Given the description of an element on the screen output the (x, y) to click on. 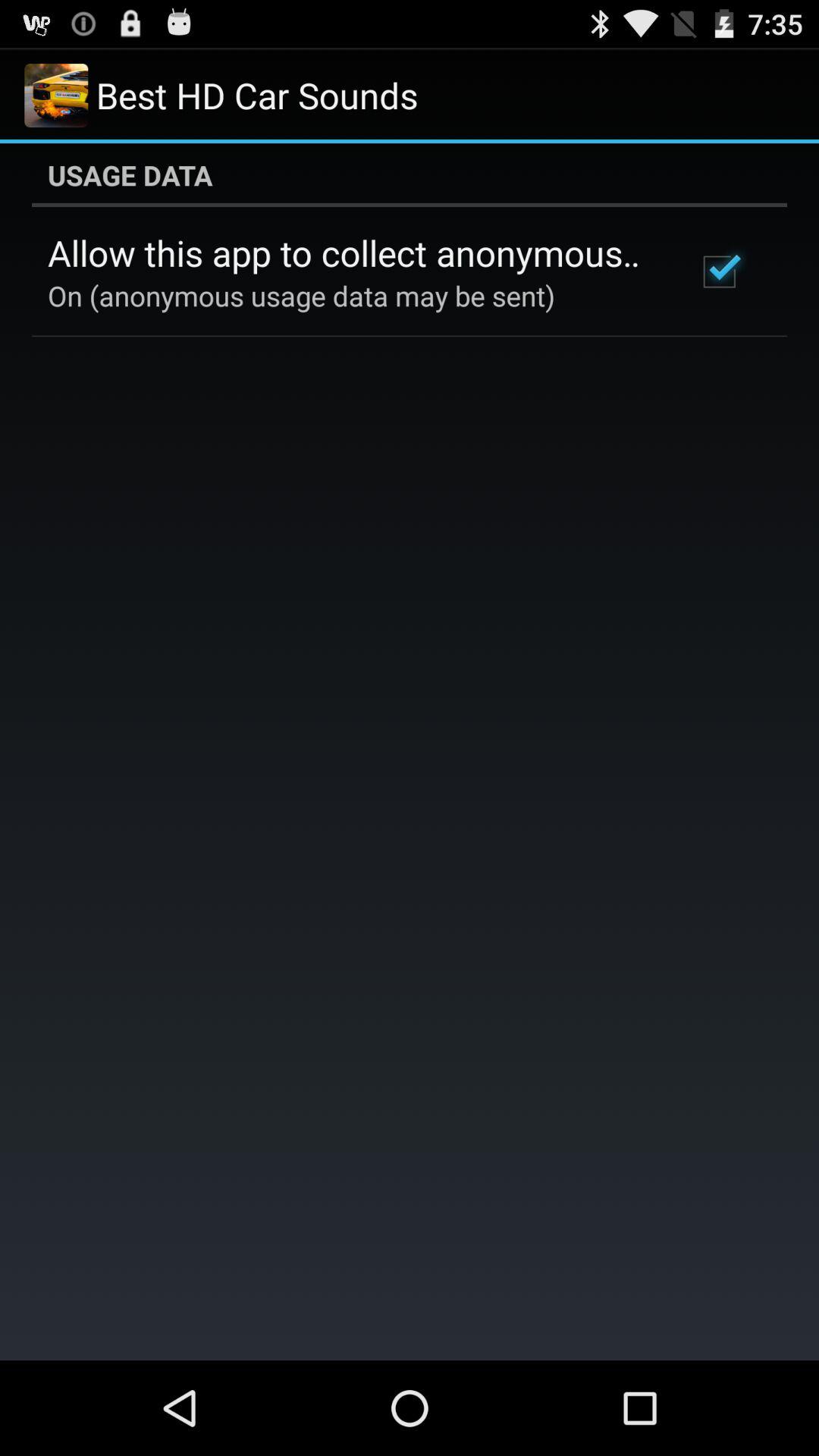
launch item next to allow this app (719, 271)
